Given the description of an element on the screen output the (x, y) to click on. 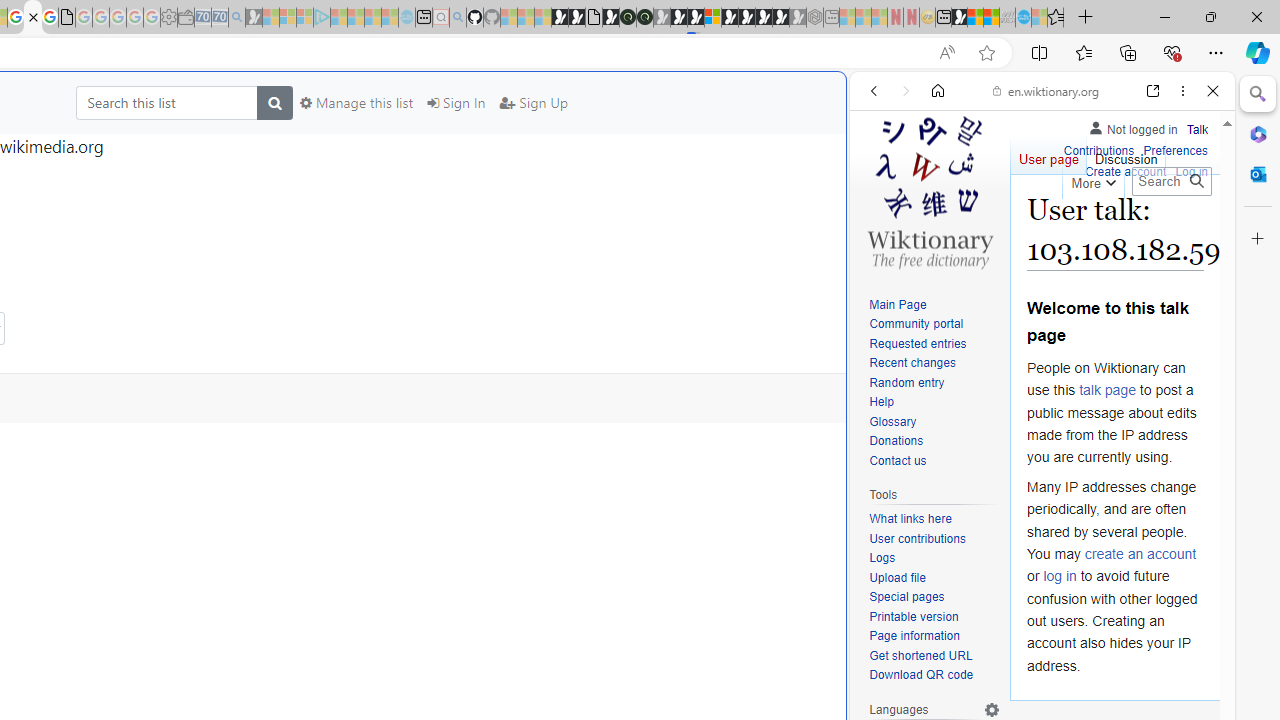
User contributions (934, 539)
Bing Real Estate - Home sales and rental listings - Sleeping (236, 17)
Random entry (906, 382)
Page information (914, 636)
Contributions (1098, 148)
Create account (1125, 172)
